Given the description of an element on the screen output the (x, y) to click on. 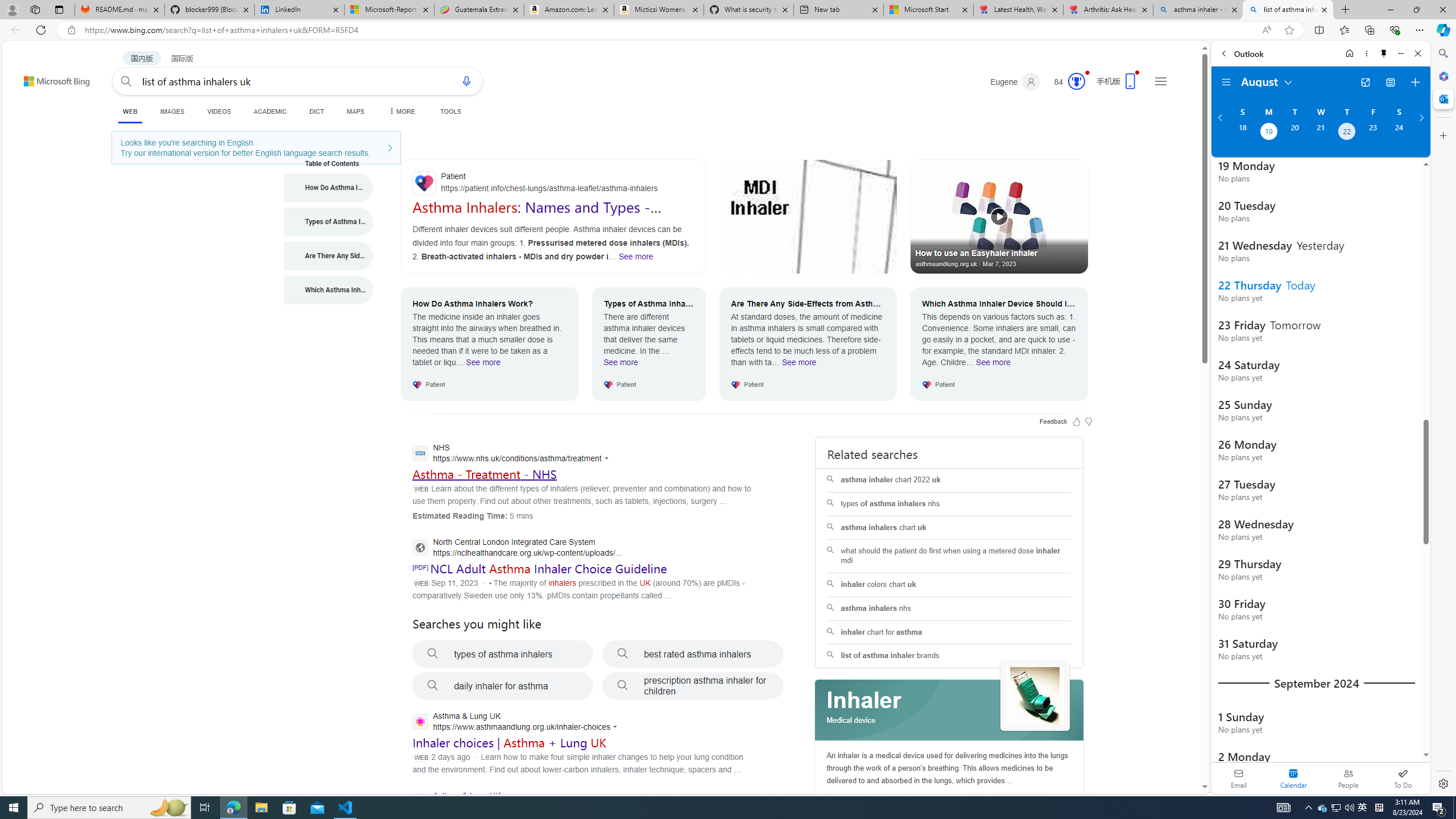
list of asthma inhalers uk - Search (1287, 9)
